Given the description of an element on the screen output the (x, y) to click on. 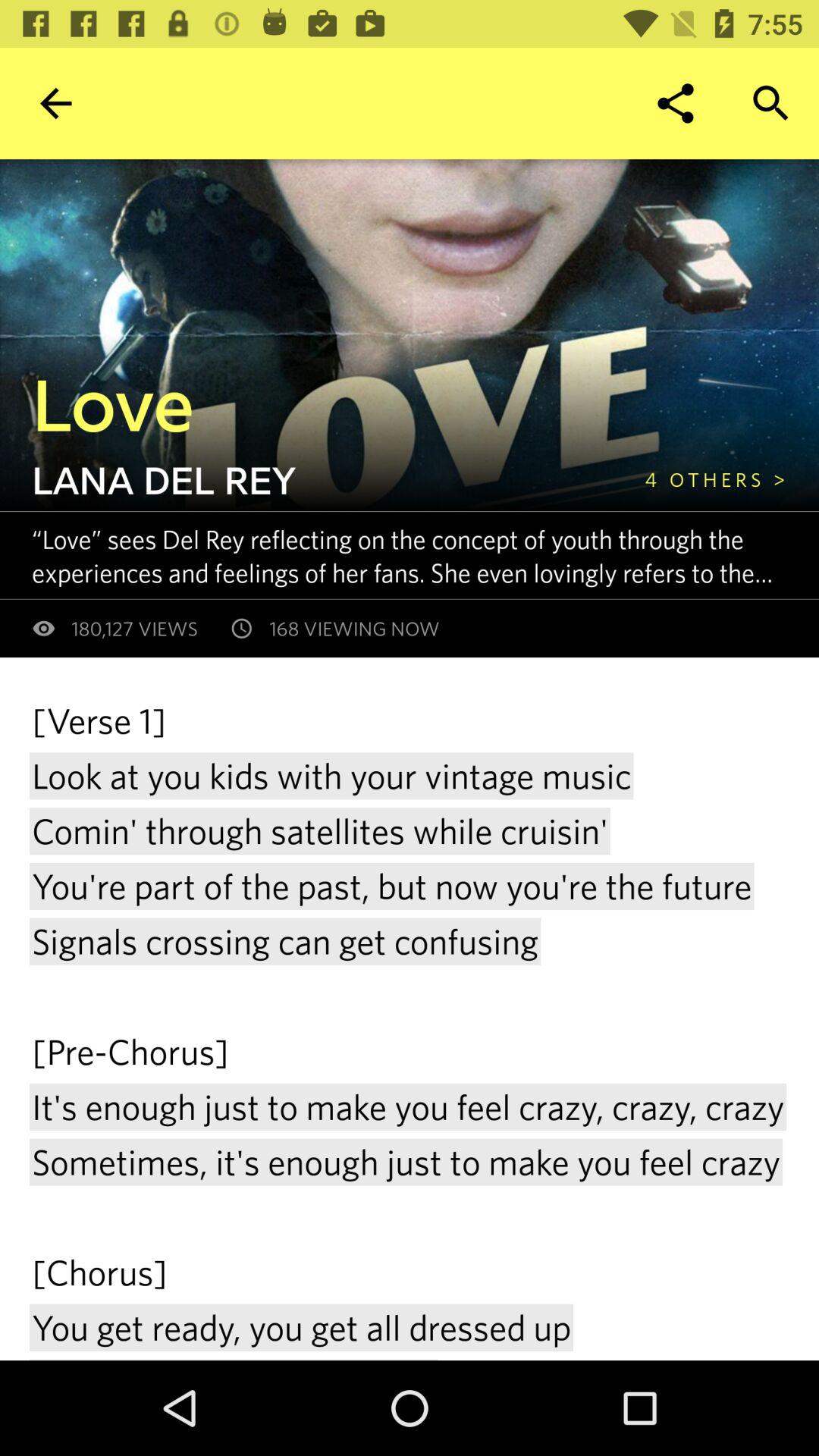
tap icon below love (715, 479)
